Given the description of an element on the screen output the (x, y) to click on. 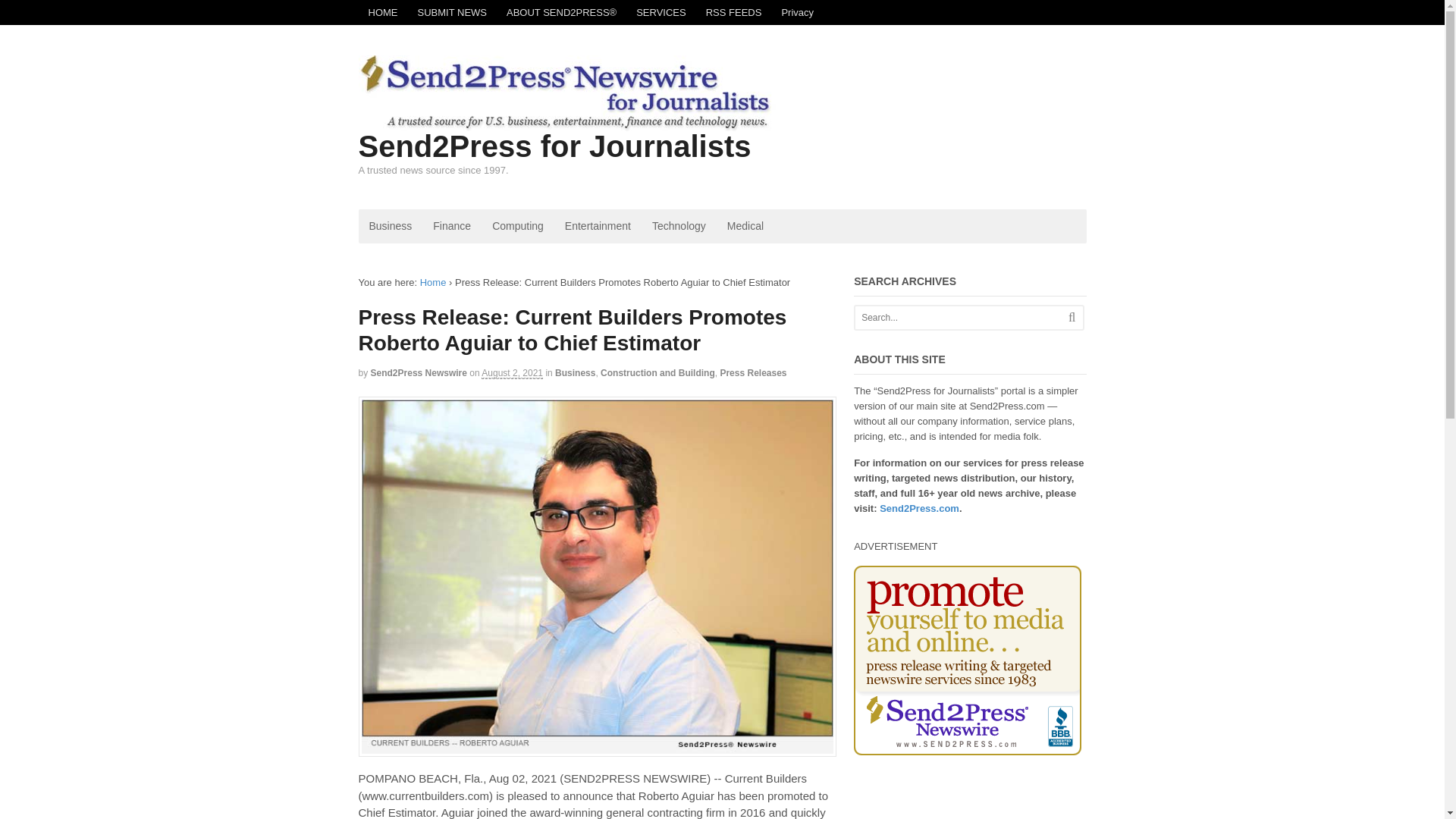
Business (574, 372)
2021-08-02T11:40:44-0700 (512, 373)
Entertainment (598, 226)
Search... (958, 317)
SERVICES (660, 12)
HOME (382, 12)
SUBMIT NEWS (452, 12)
Medical (745, 226)
Computing (517, 226)
RSS FEEDS (733, 12)
